Given the description of an element on the screen output the (x, y) to click on. 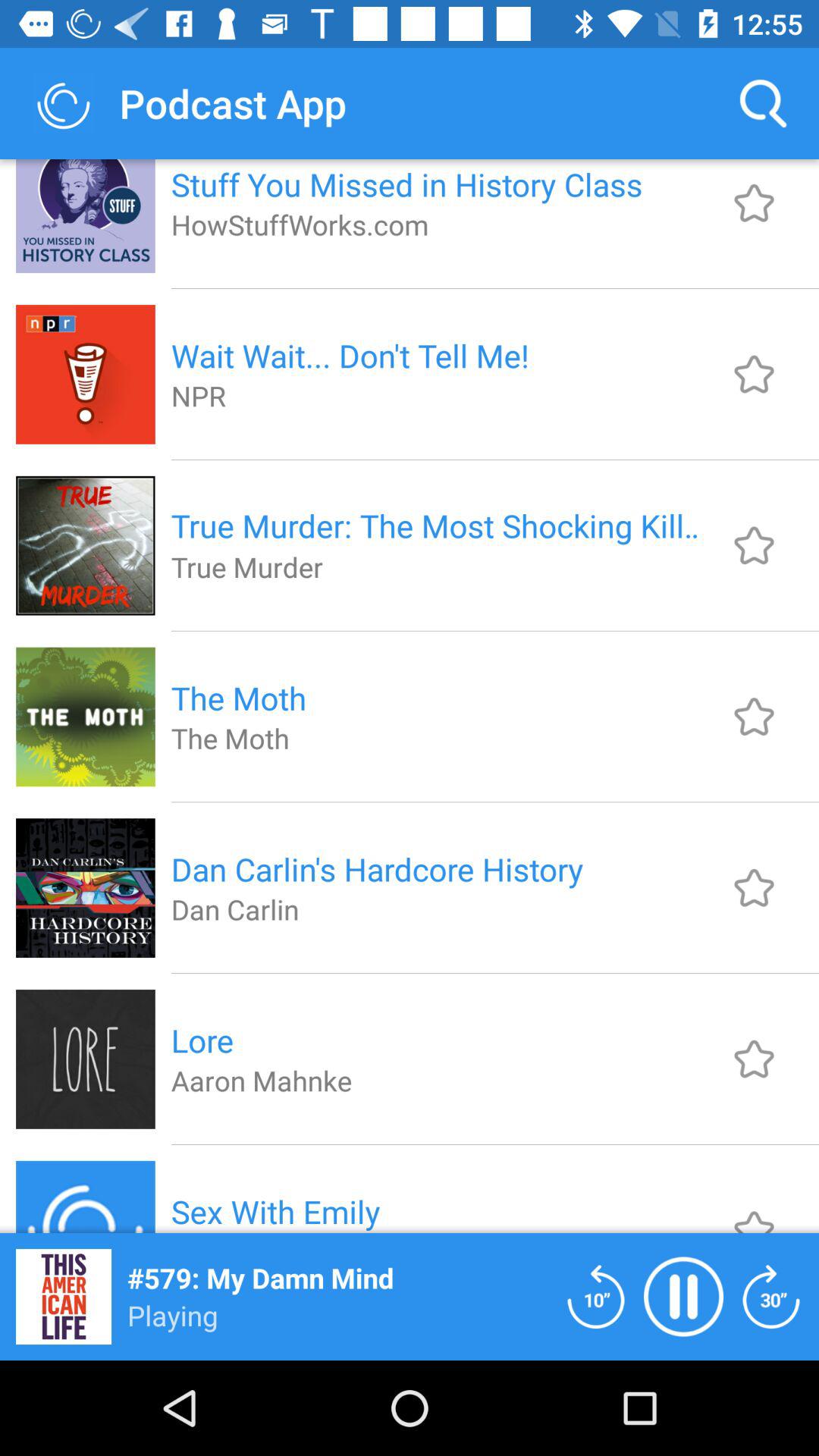
mark as favorite (754, 374)
